Given the description of an element on the screen output the (x, y) to click on. 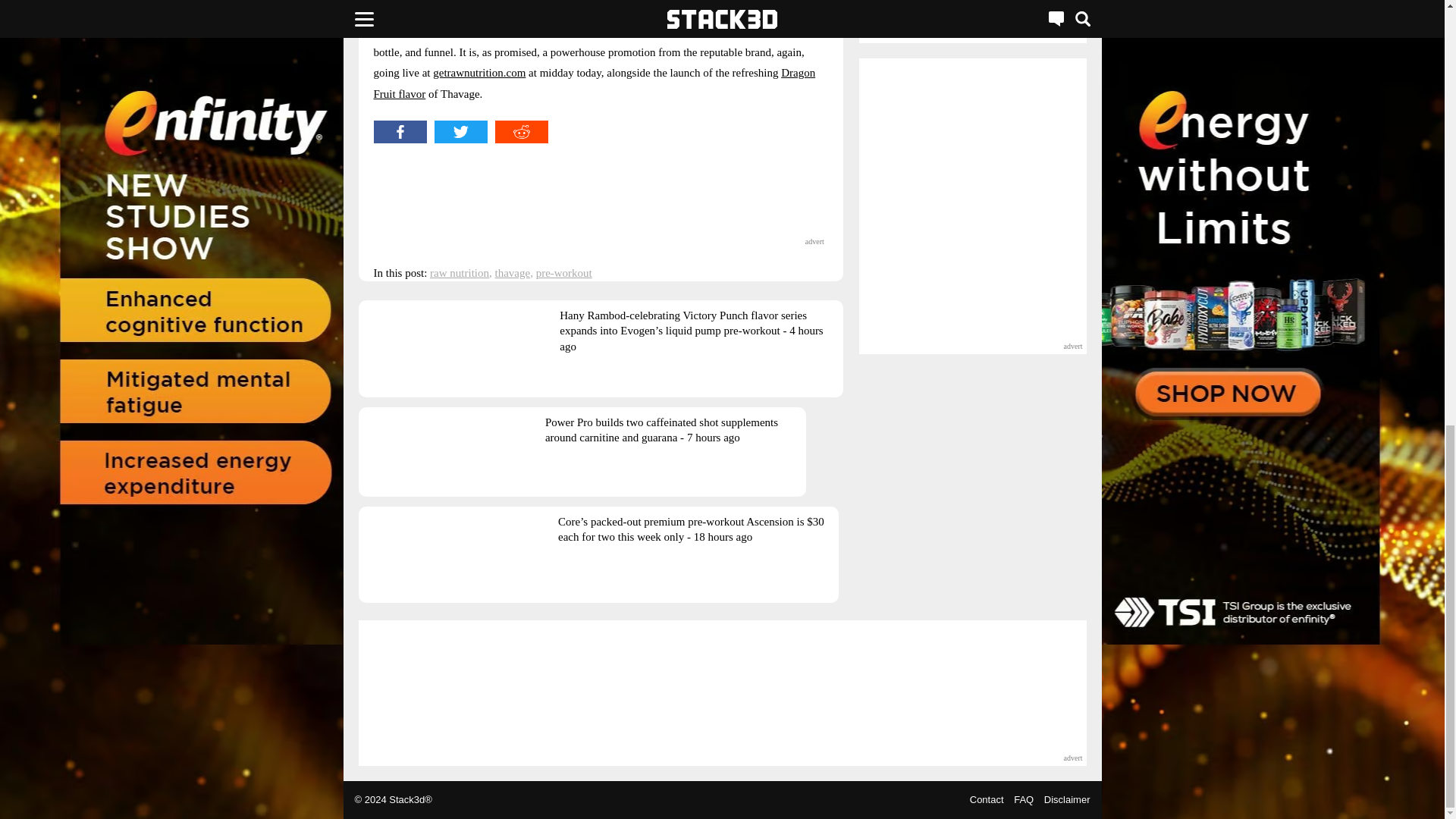
Dragon Fruit flavor (593, 82)
raw nutrition (459, 272)
getrawnutrition.com (478, 72)
